Given the description of an element on the screen output the (x, y) to click on. 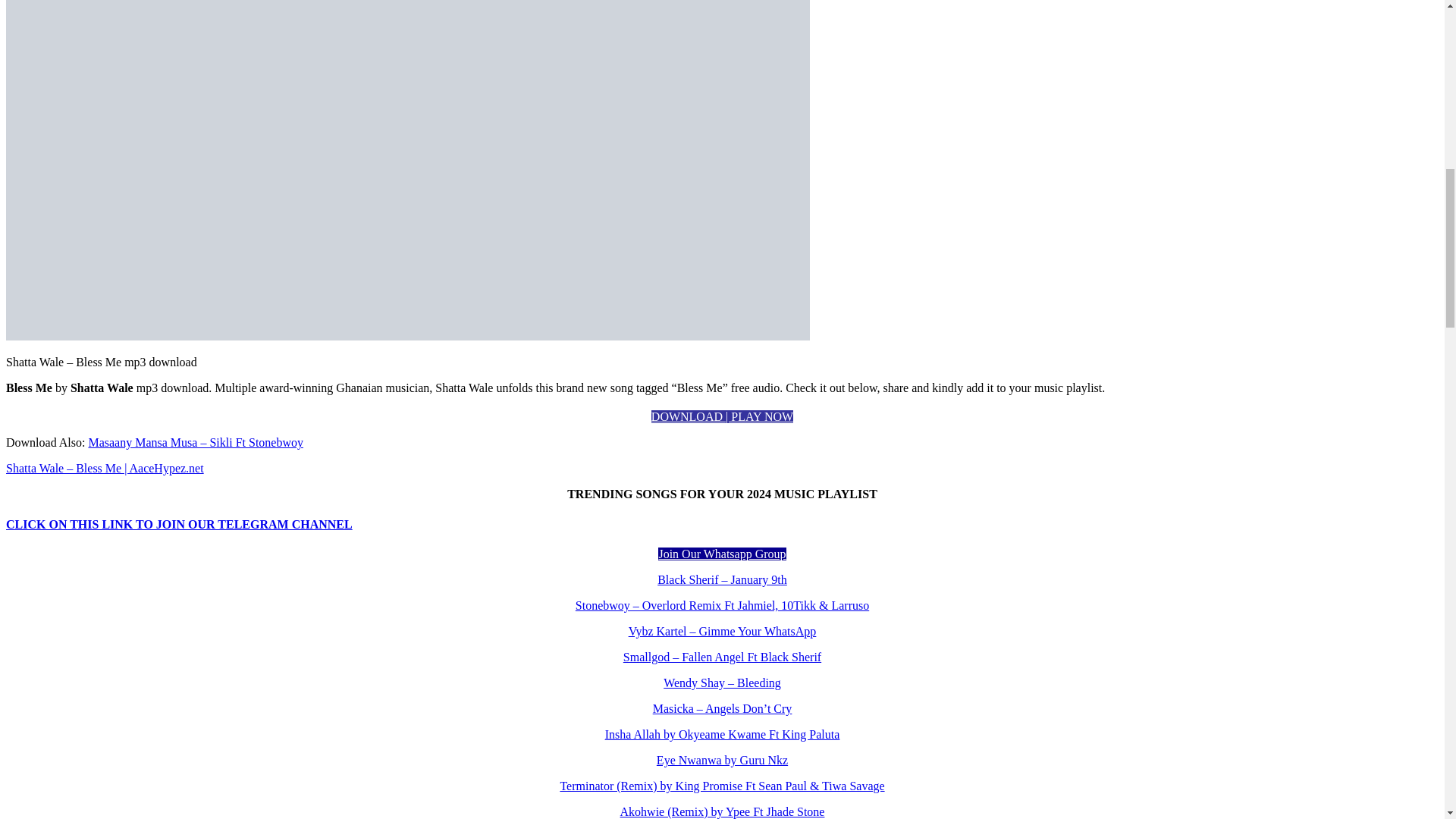
Eye Nwanwa by Guru Nkz (721, 759)
Join Our Whatsapp Group (722, 553)
CLICK ON THIS LINK TO JOIN OUR TELEGRAM CHANNEL (178, 523)
Insha Allah by Okyeame Kwame Ft King Paluta (722, 734)
